Given the description of an element on the screen output the (x, y) to click on. 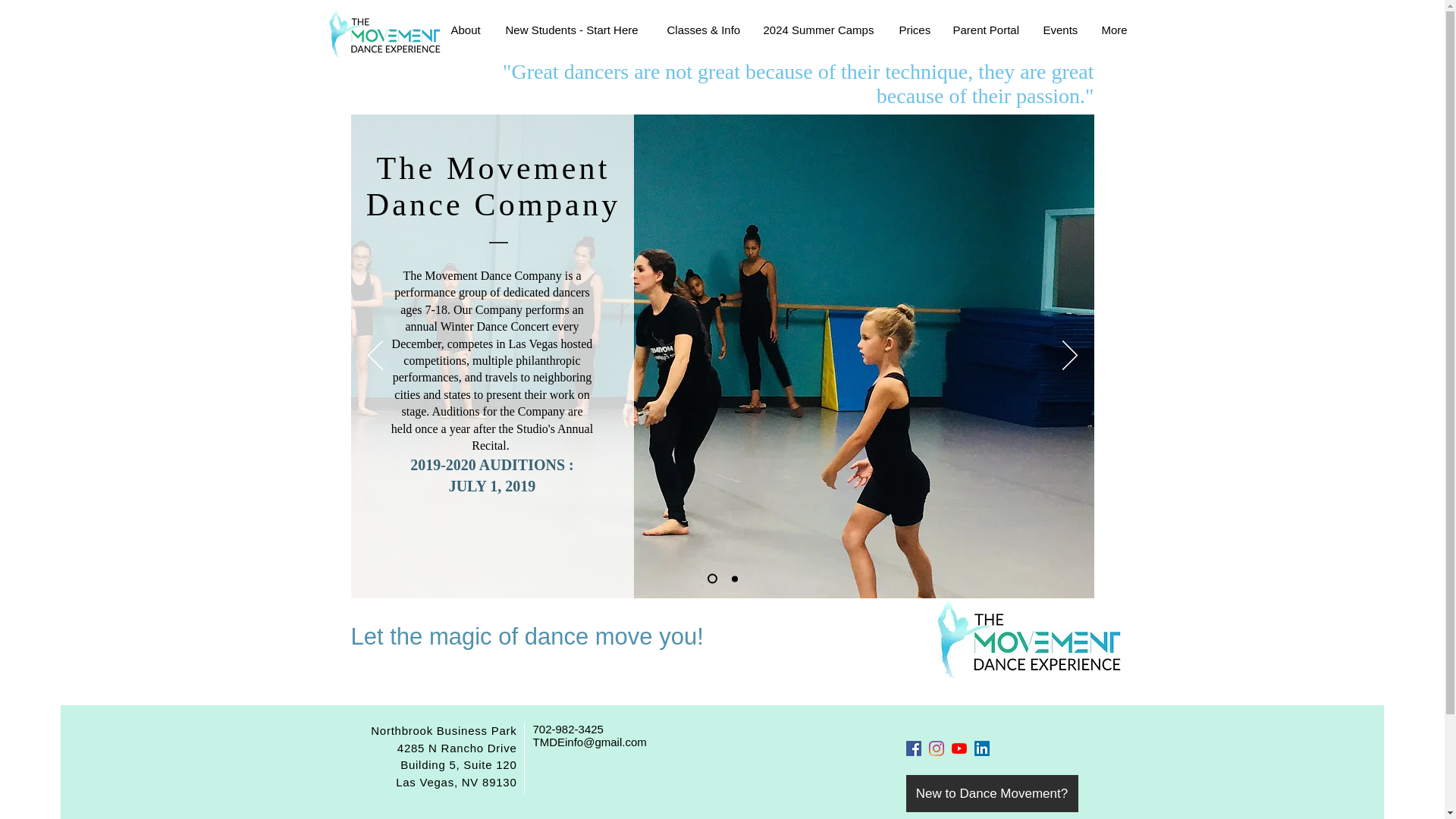
Prices (913, 29)
2024 Summer Camps (820, 29)
New to Dance Movement? (991, 793)
Events (1059, 29)
Parent Portal (987, 29)
About (467, 29)
New Students - Start Here (575, 29)
